Given the description of an element on the screen output the (x, y) to click on. 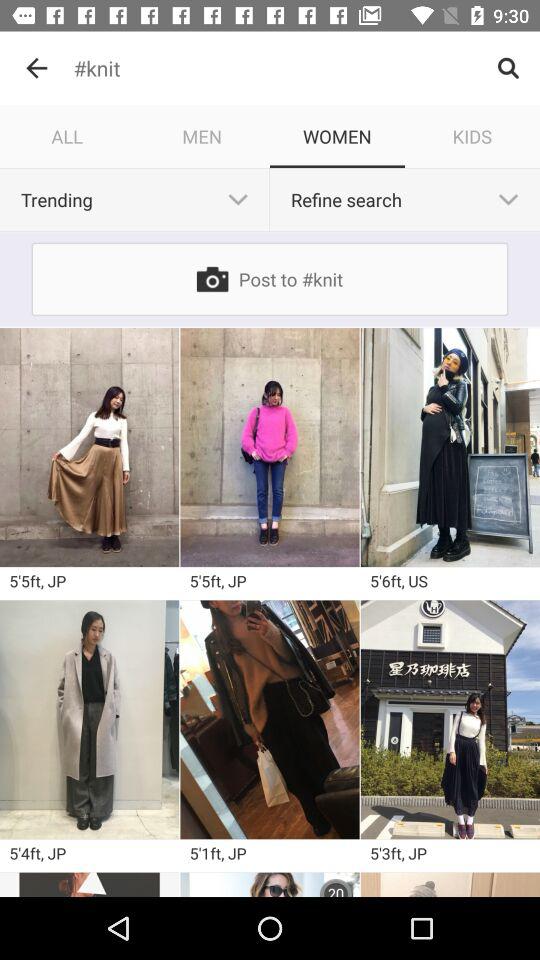
select icon next to all (202, 136)
